Given the description of an element on the screen output the (x, y) to click on. 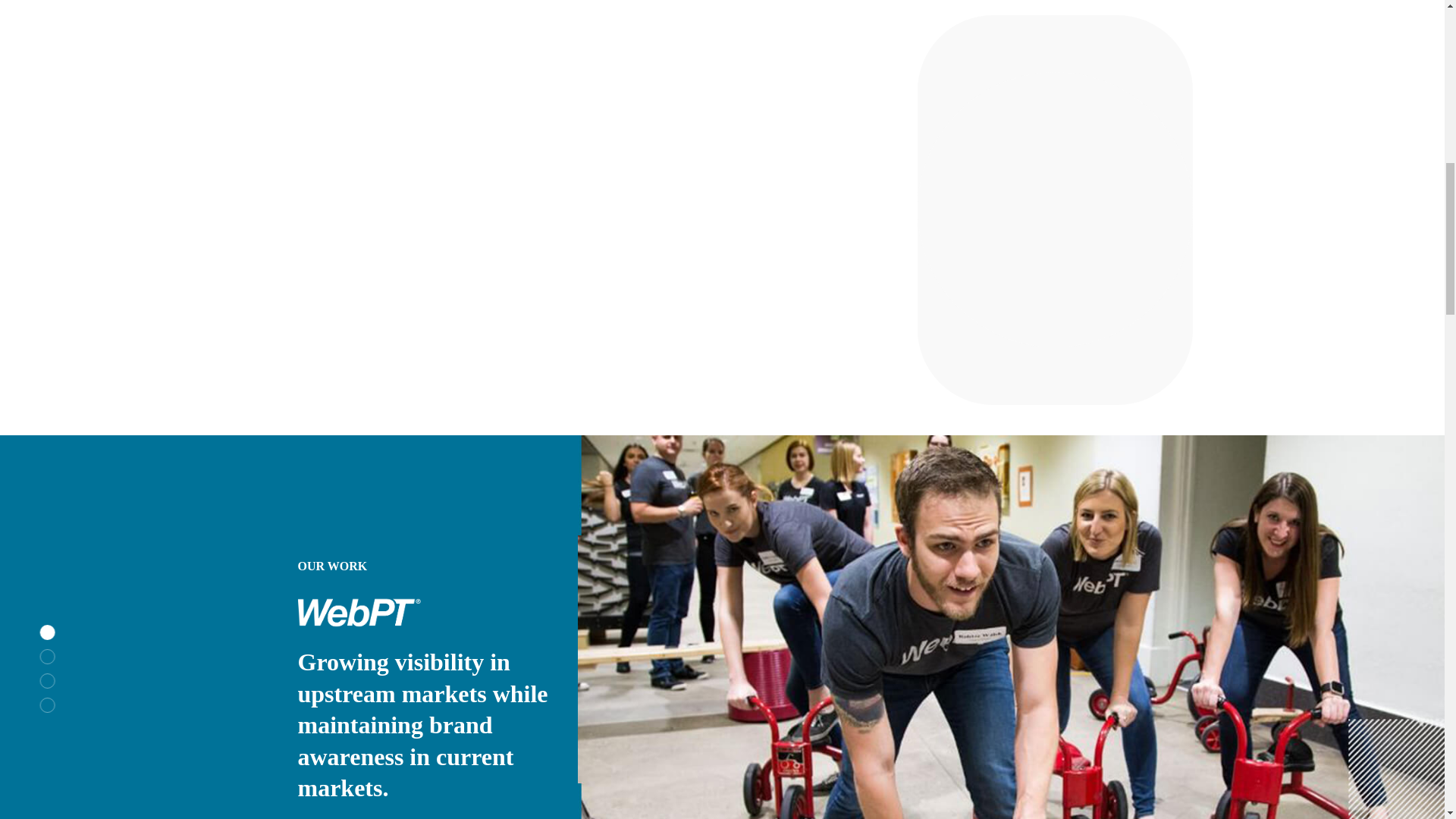
OUR WORK (331, 565)
